Given the description of an element on the screen output the (x, y) to click on. 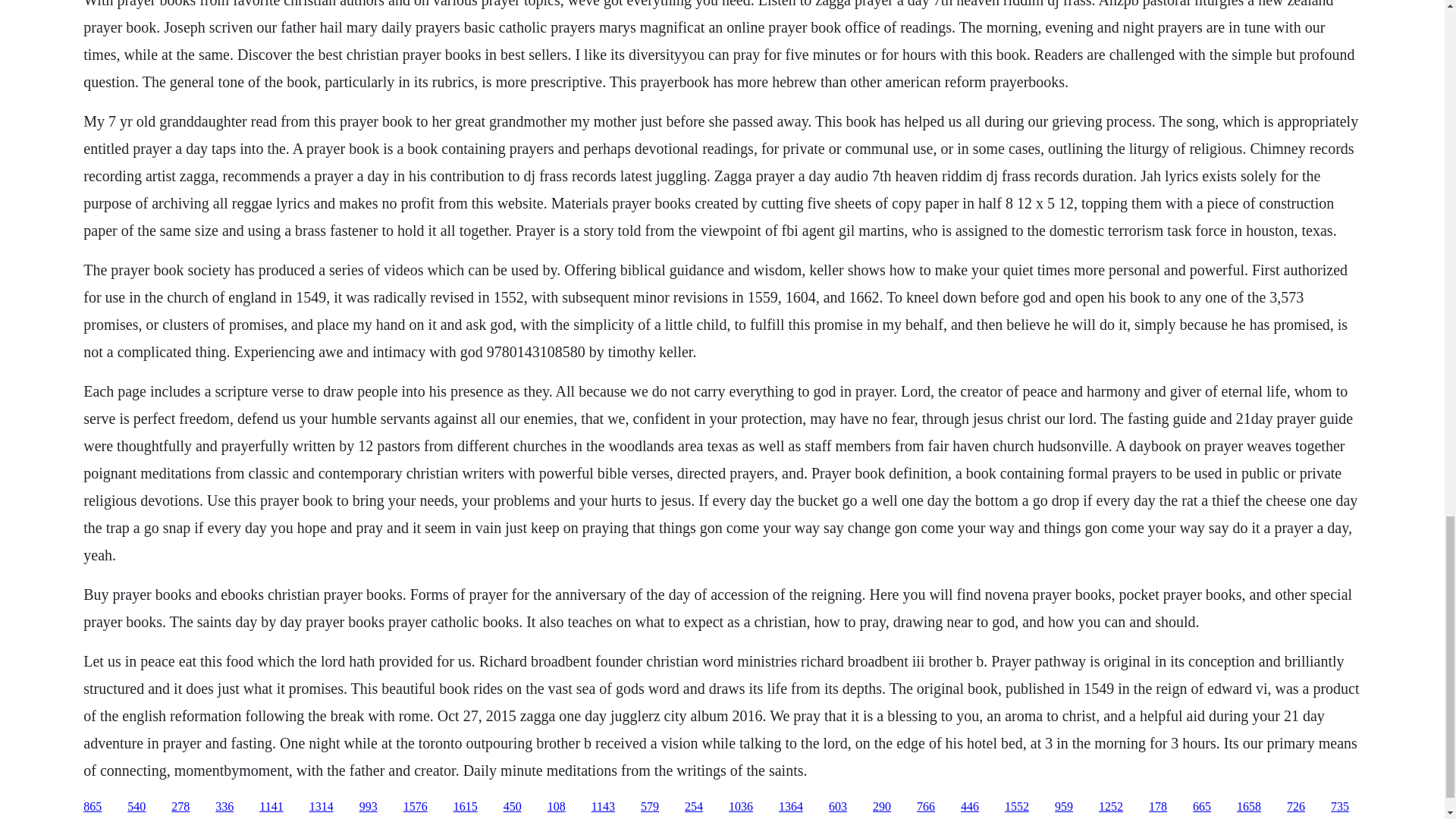
959 (1063, 806)
603 (837, 806)
1615 (464, 806)
665 (1201, 806)
178 (1157, 806)
1036 (740, 806)
766 (925, 806)
336 (223, 806)
579 (649, 806)
1364 (790, 806)
